Given the description of an element on the screen output the (x, y) to click on. 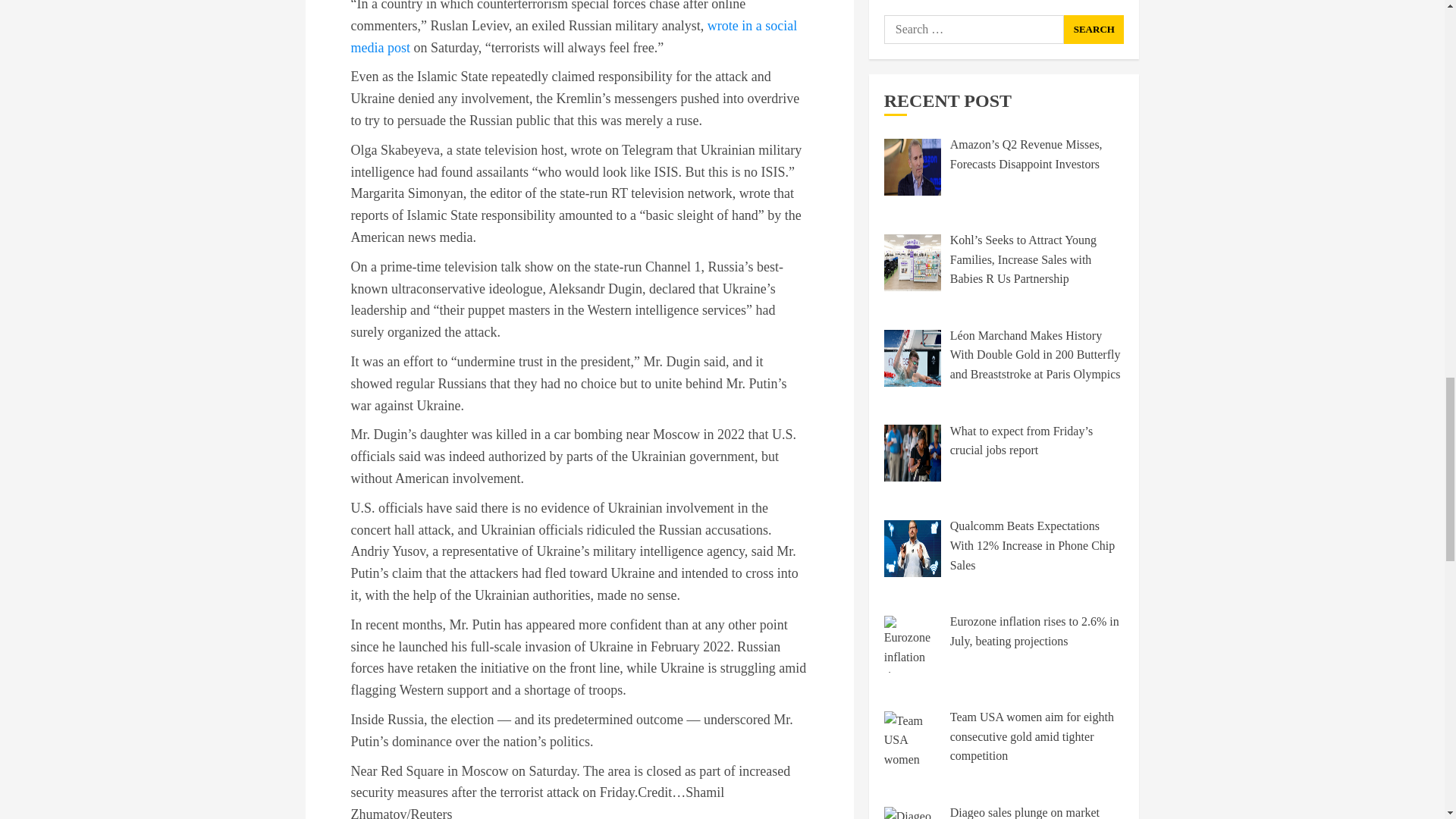
wrote in a social media post (573, 36)
